Given the description of an element on the screen output the (x, y) to click on. 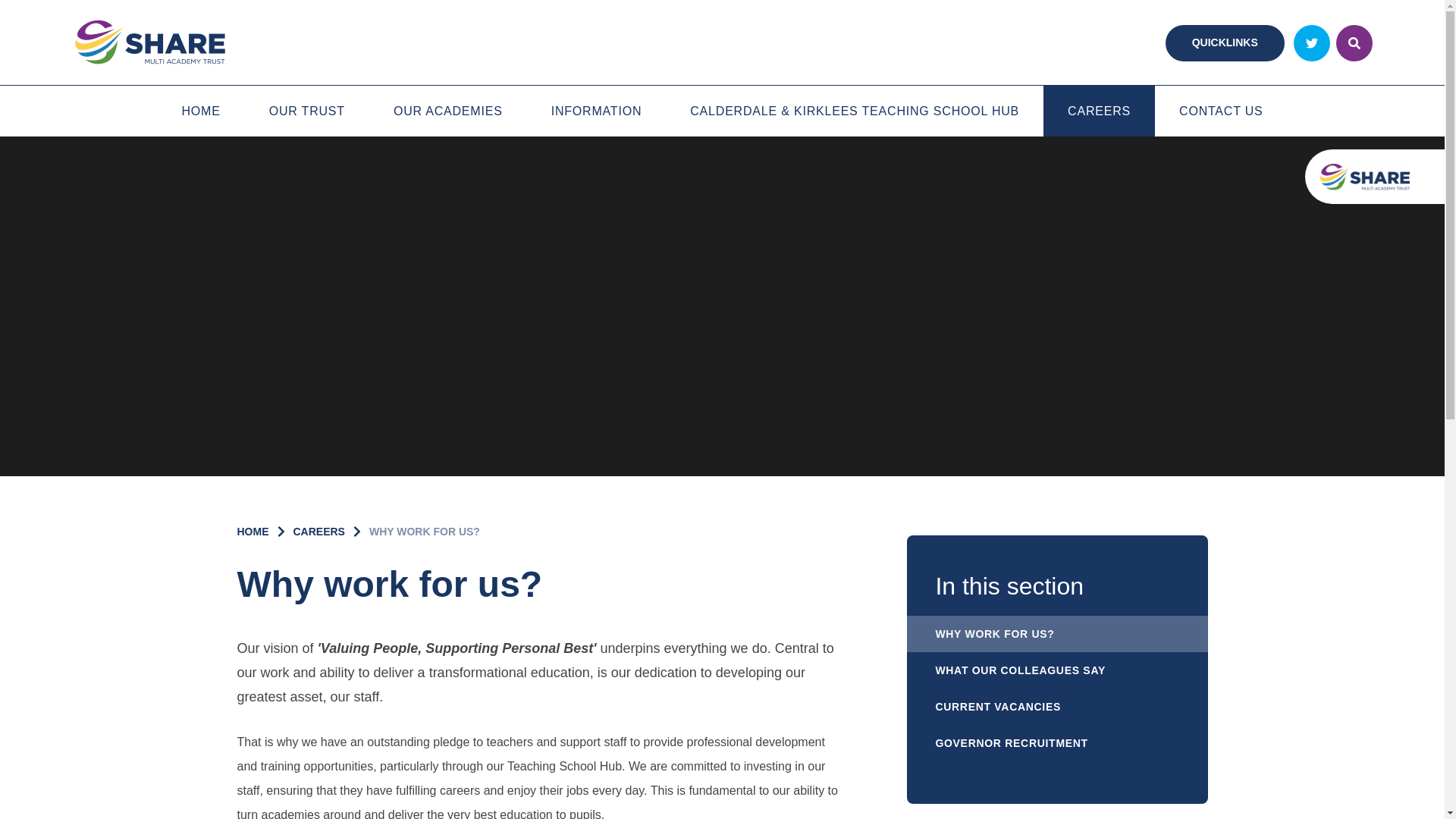
OUR ACADEMIES (448, 110)
HOME (200, 110)
OUR TRUST (306, 110)
INFORMATION (596, 110)
QUICKLINKS (1225, 42)
